Given the description of an element on the screen output the (x, y) to click on. 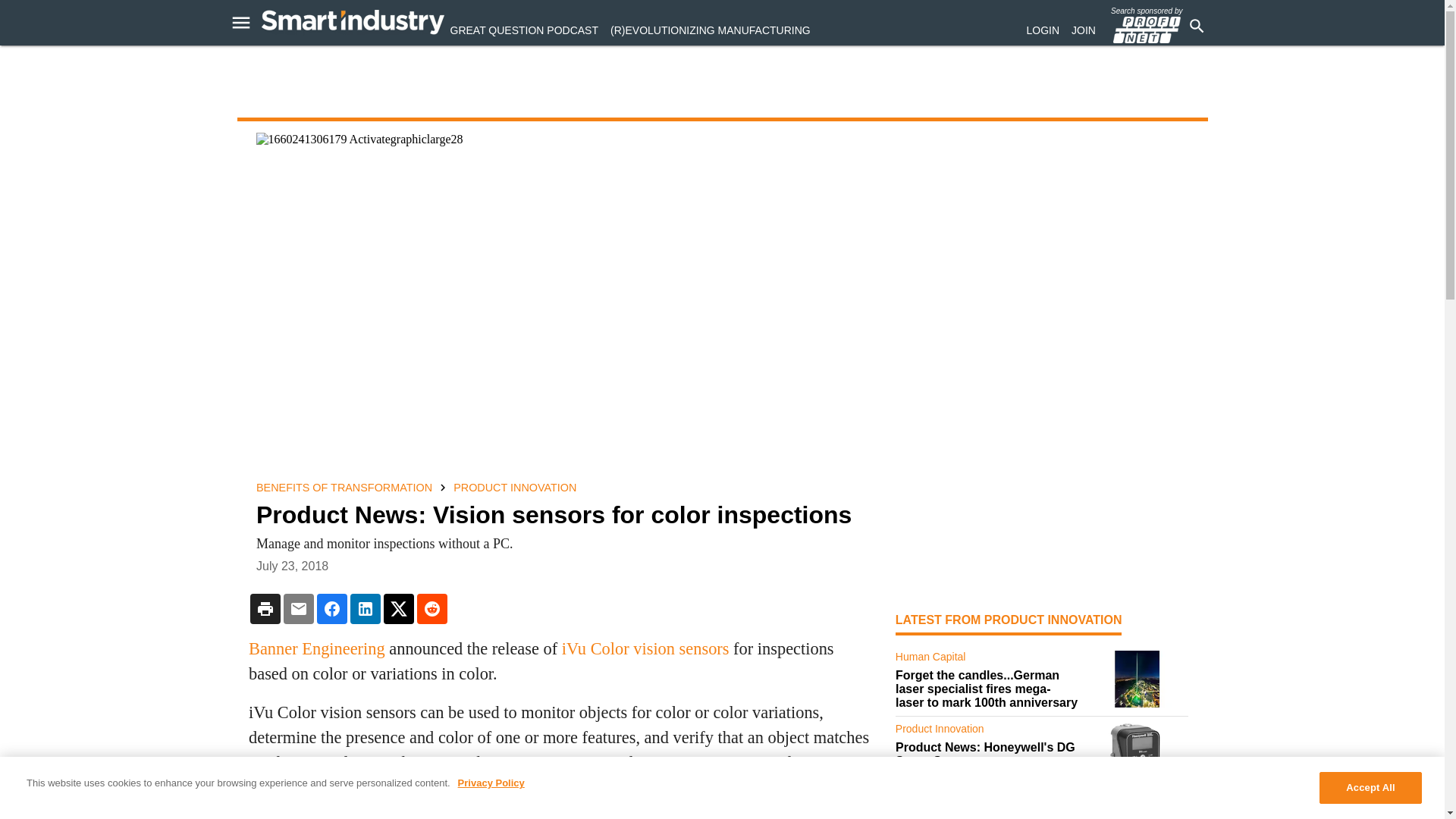
Honeywell Sensor (1137, 750)
GREAT QUESTION PODCAST (523, 30)
LOGIN (1042, 30)
H Trumpf Laser (1137, 678)
JOIN (1083, 30)
